Given the description of an element on the screen output the (x, y) to click on. 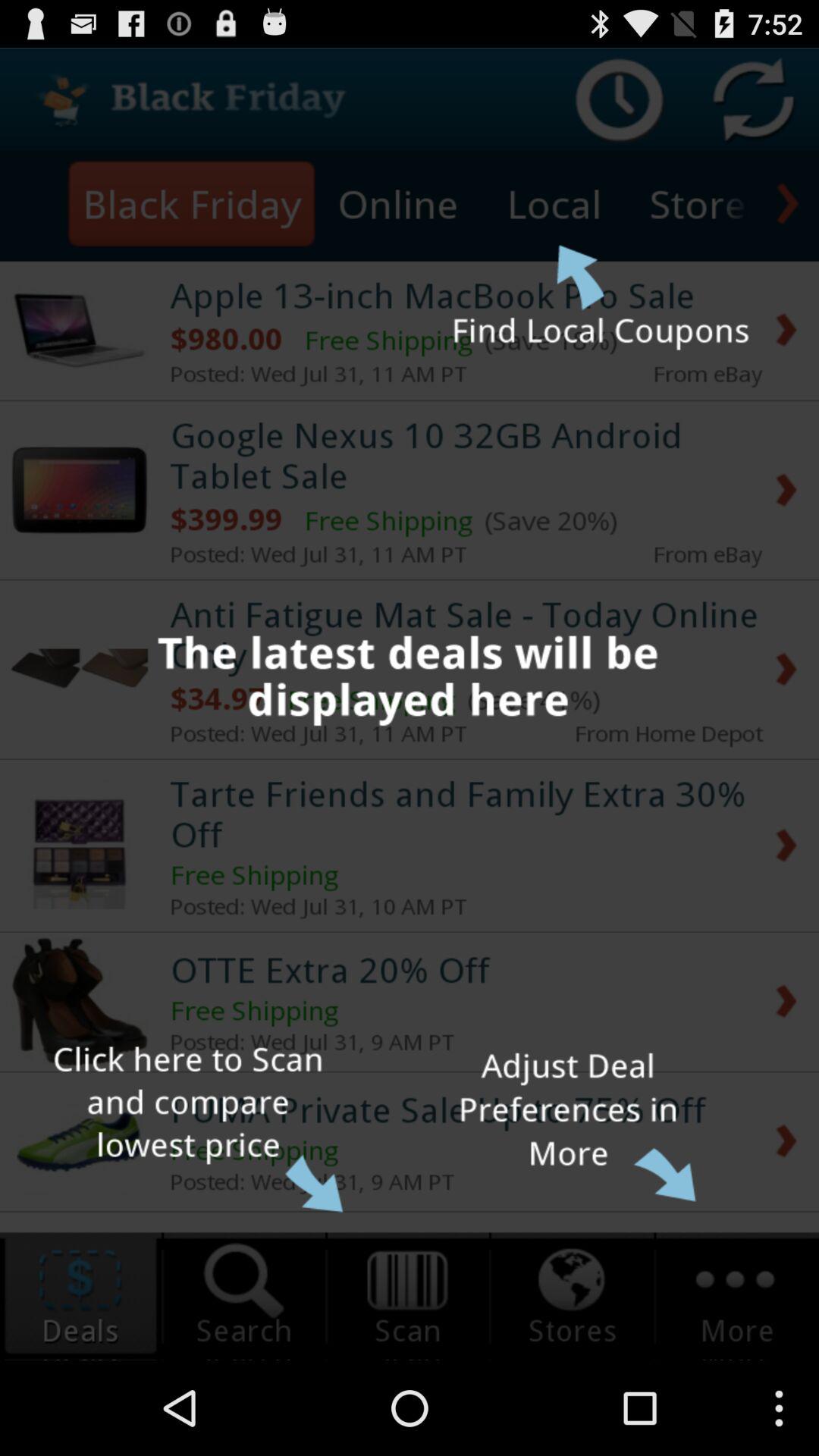
click the item at the center (409, 703)
